Given the description of an element on the screen output the (x, y) to click on. 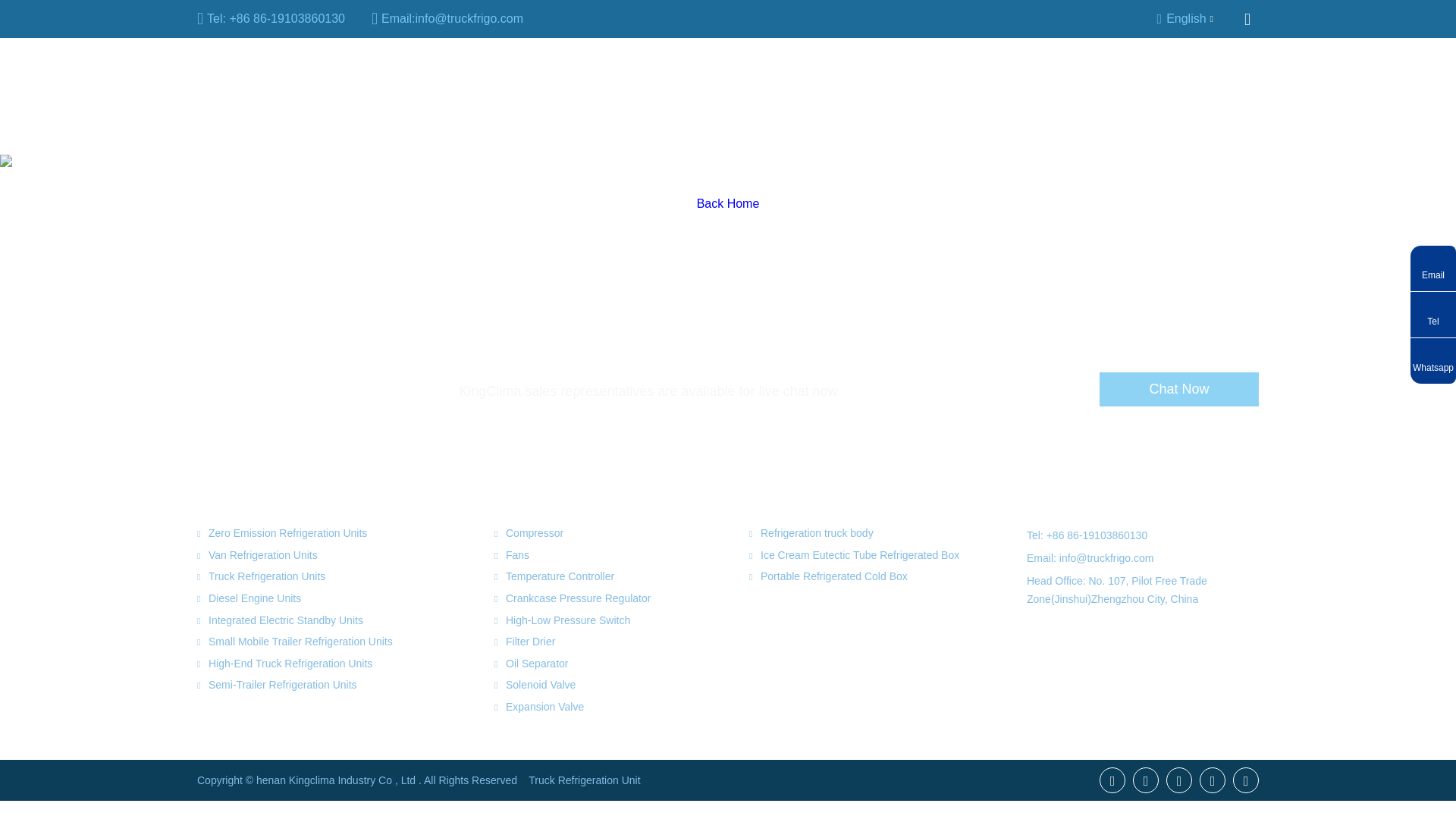
Refrigeration parts (389, 79)
Refrigeration truck body (547, 79)
Refrigeration units (245, 79)
